Given the description of an element on the screen output the (x, y) to click on. 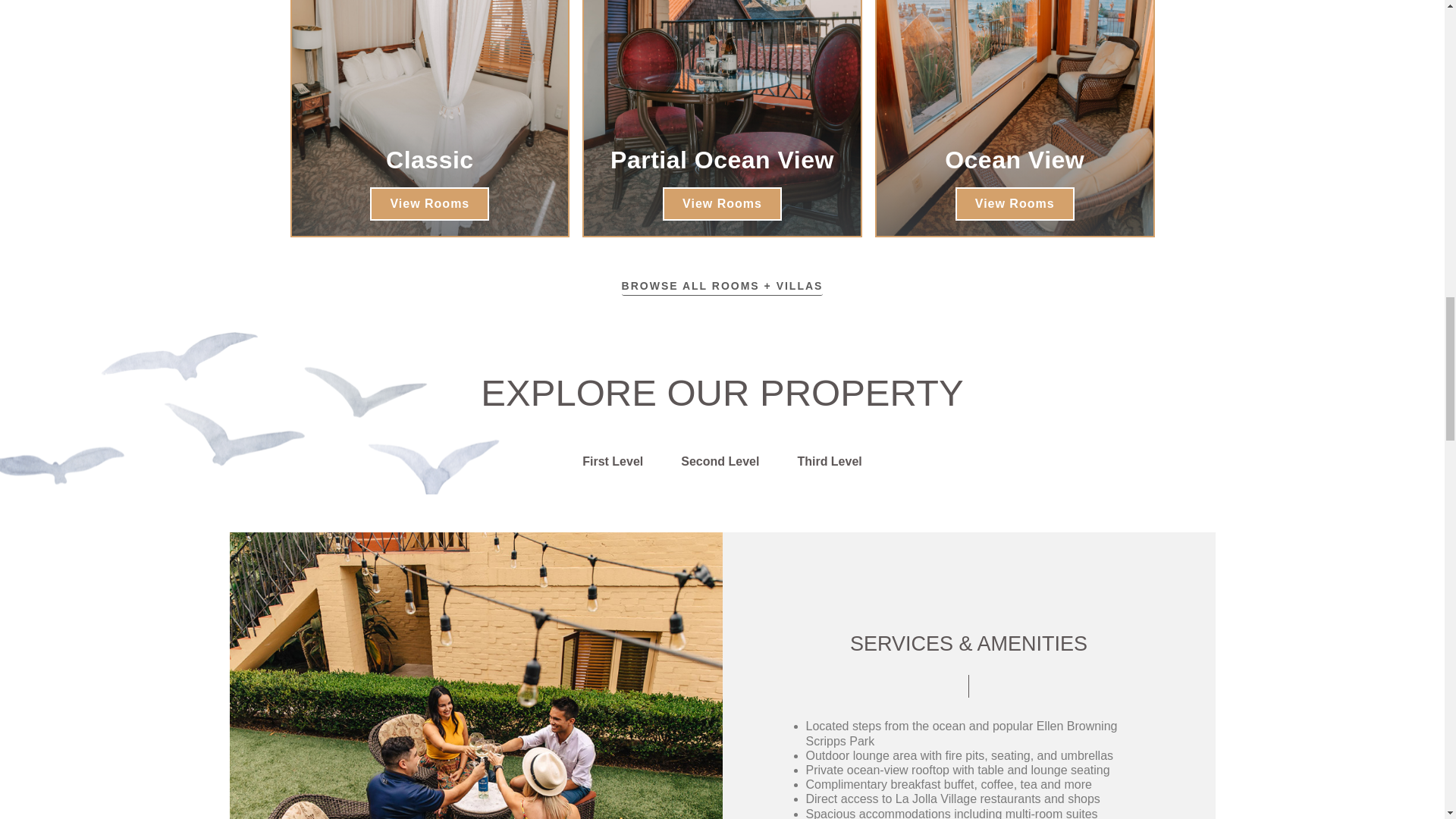
View Rooms (721, 203)
View Rooms (1014, 203)
View Rooms (429, 203)
